Given the description of an element on the screen output the (x, y) to click on. 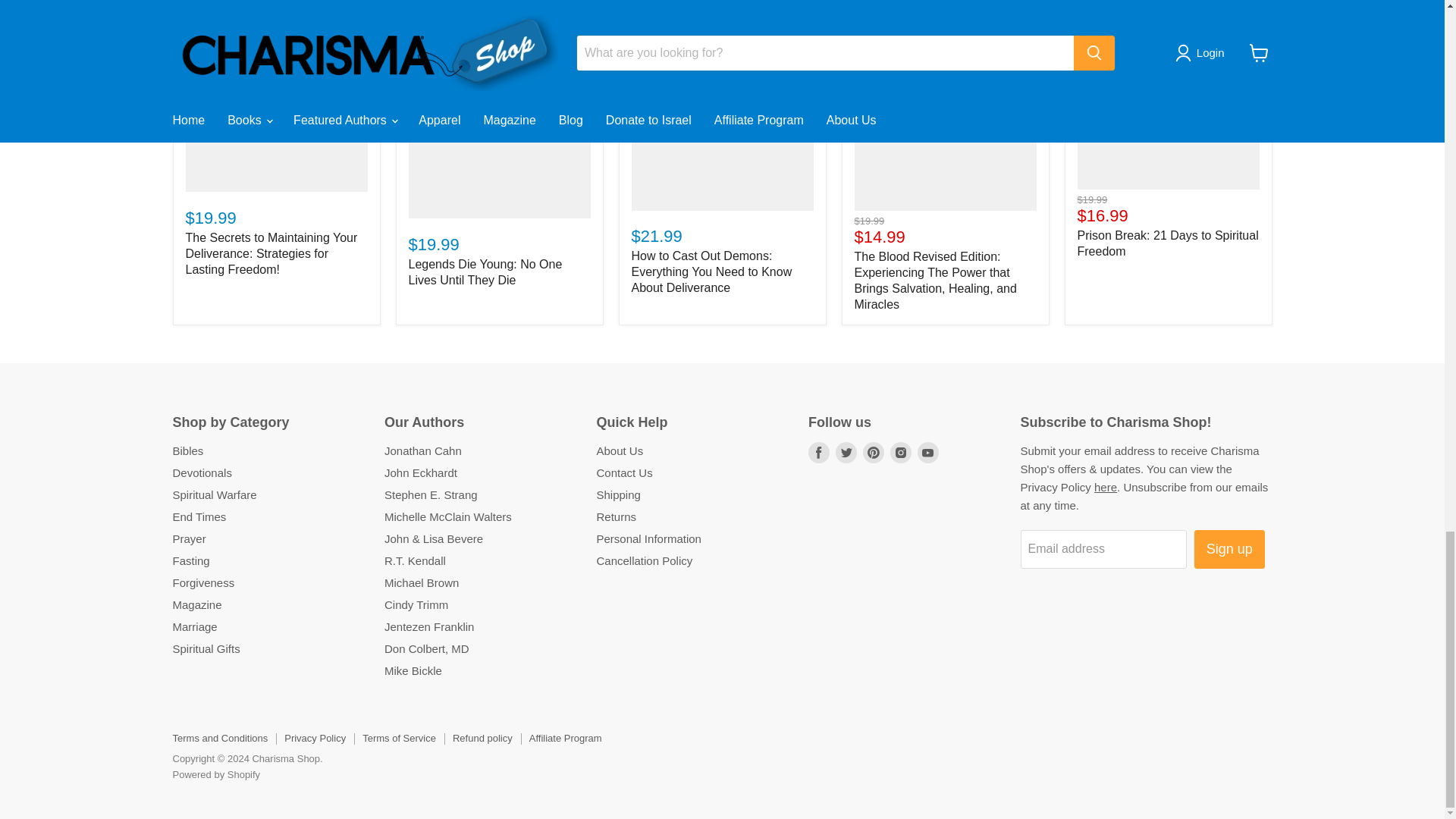
Pinterest (873, 452)
Facebook (818, 452)
Twitter (846, 452)
Youtube (928, 452)
Instagram (900, 452)
Privacy Policy (1105, 486)
